Given the description of an element on the screen output the (x, y) to click on. 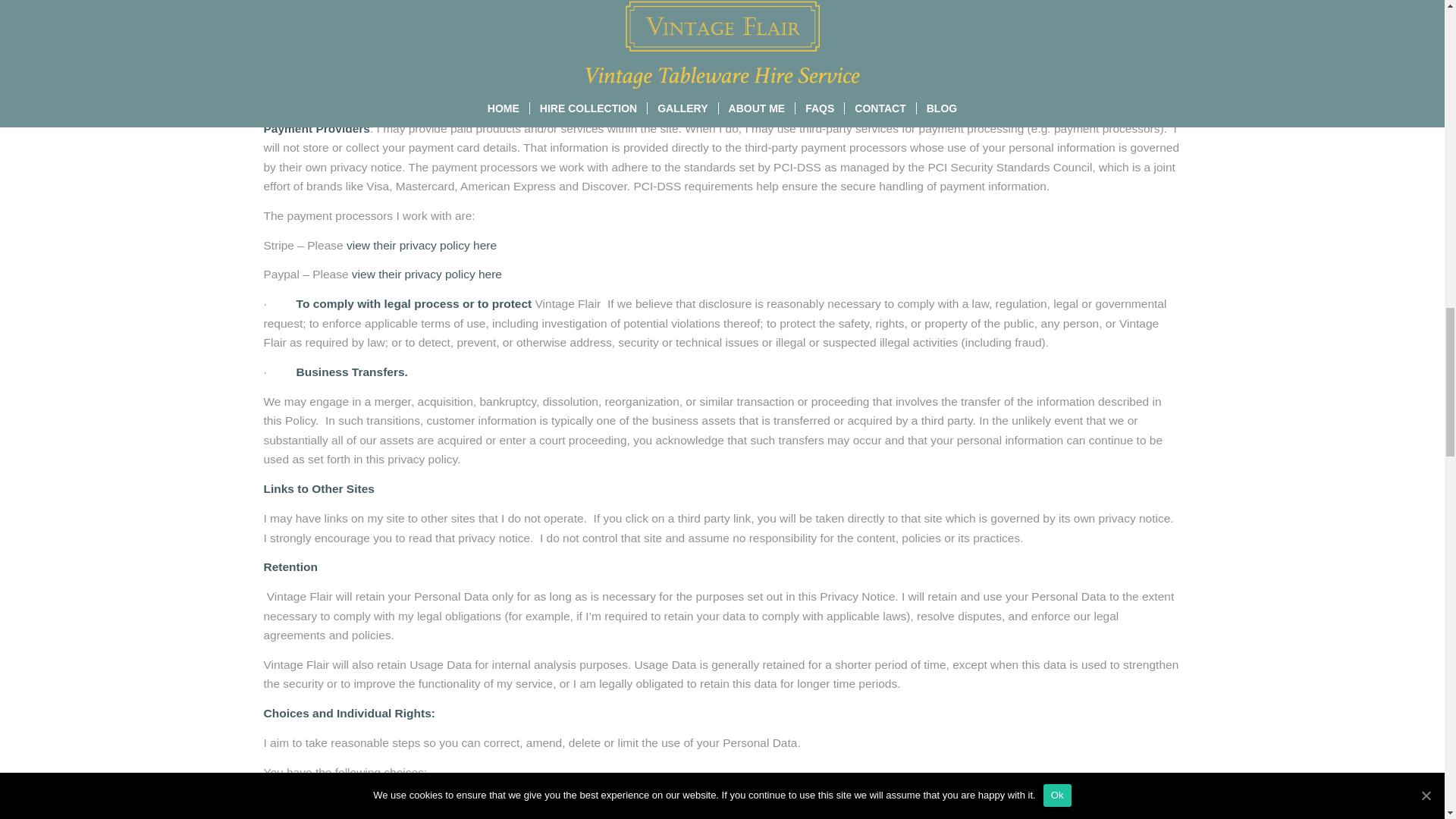
view their privacy policy here (421, 245)
view their privacy policy here (427, 273)
